Given the description of an element on the screen output the (x, y) to click on. 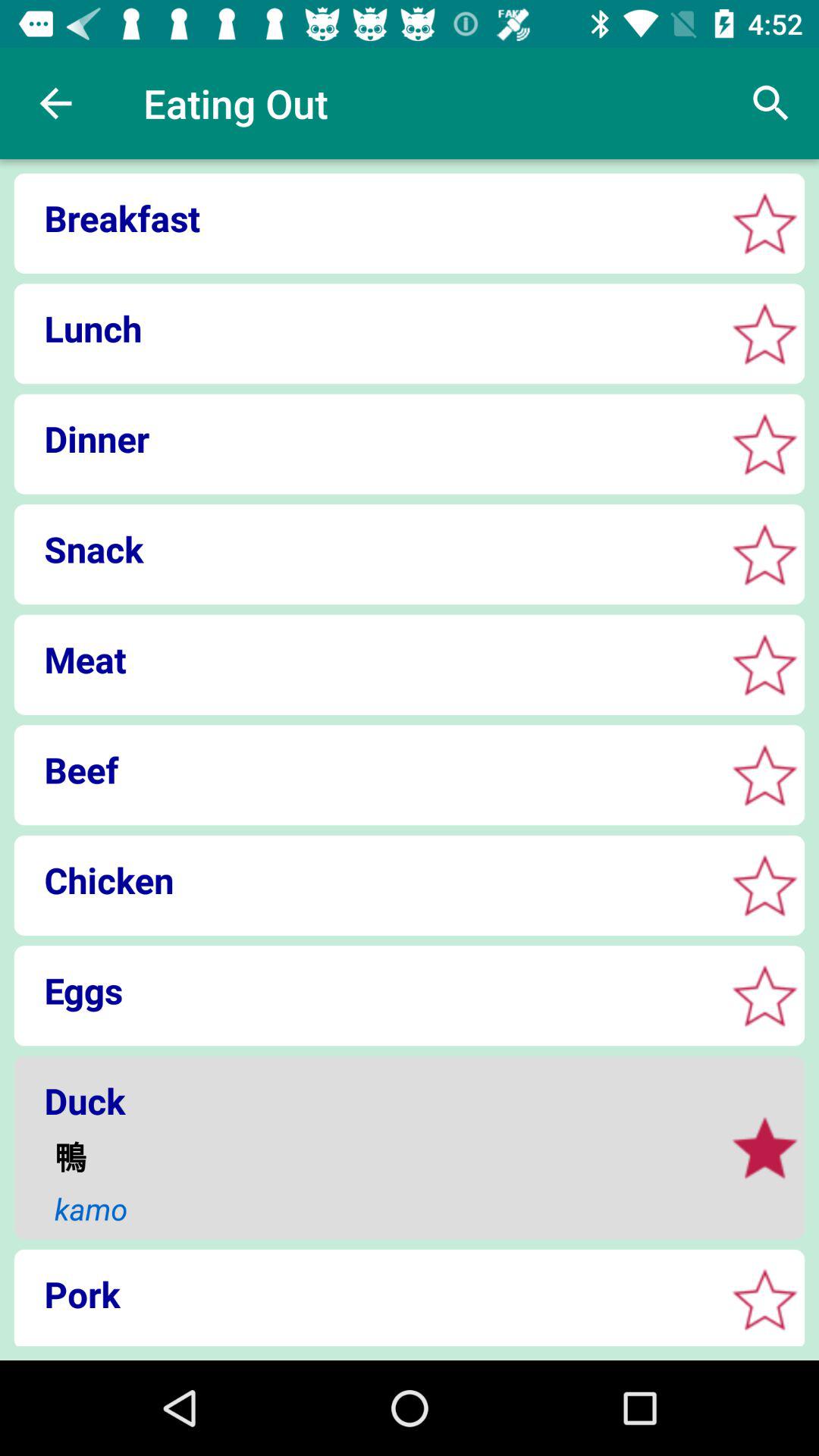
add option to favorites (764, 1299)
